Given the description of an element on the screen output the (x, y) to click on. 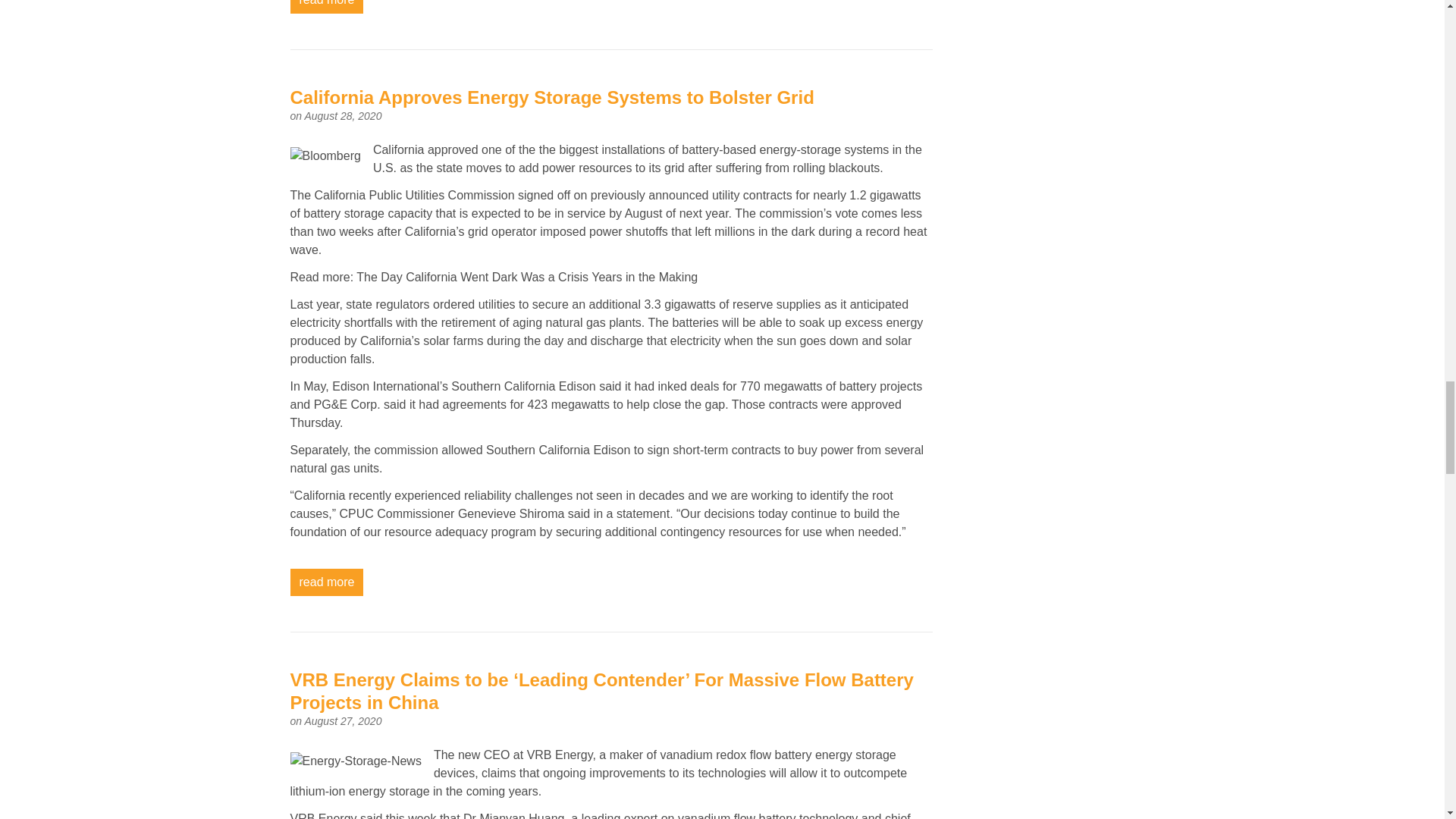
California Approves Energy Storage Systems to Bolster Grid (551, 96)
read more (325, 6)
read more (325, 582)
